Given the description of an element on the screen output the (x, y) to click on. 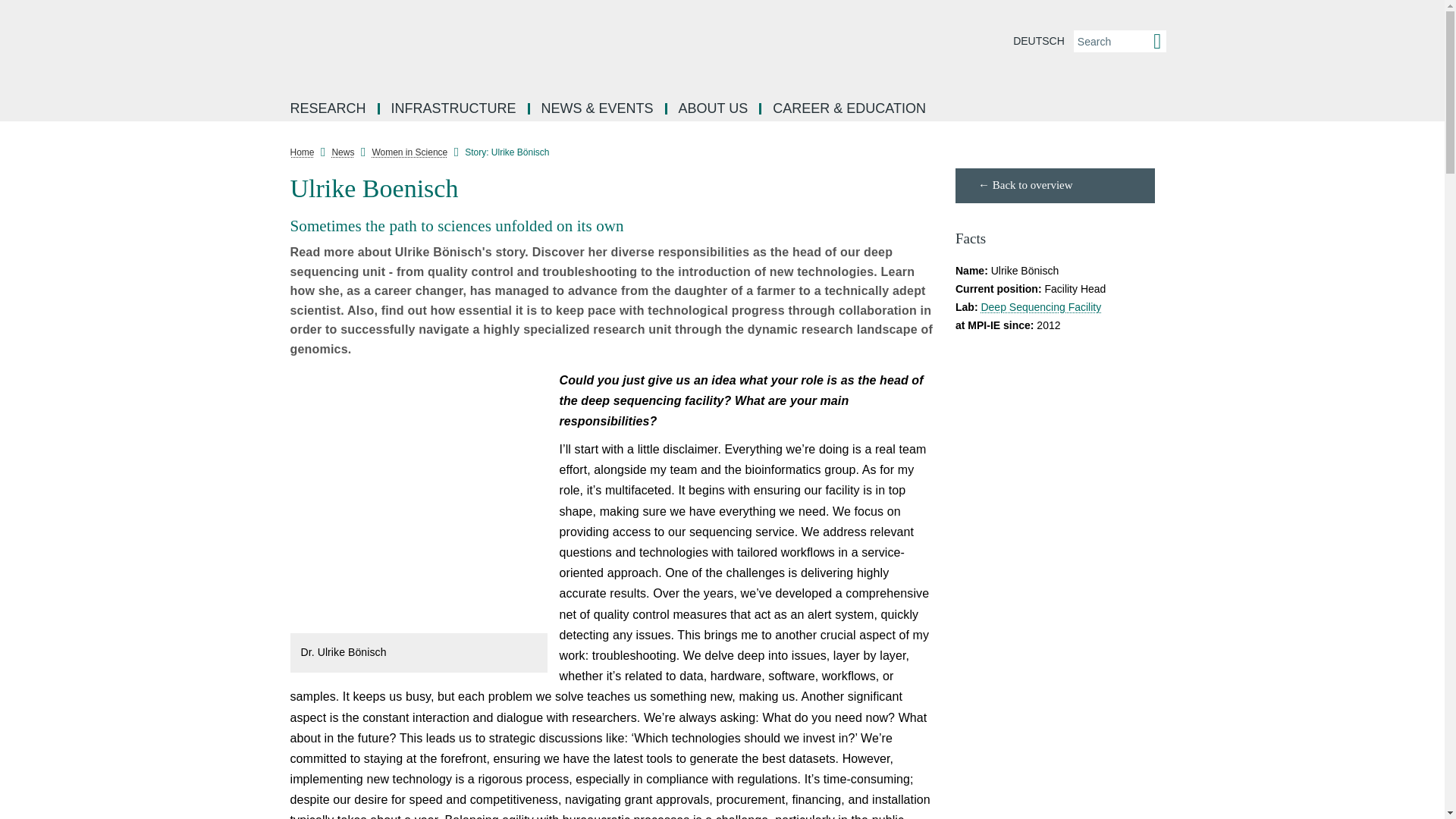
RESEARCH (329, 108)
Facebook (258, 184)
DEUTSCH (1038, 41)
E-Mail (258, 354)
Print (258, 389)
opens zoom view (533, 621)
INFRASTRUCTURE (454, 108)
Xing (258, 321)
Reddit (258, 252)
LinkedIn (258, 219)
Twitter (258, 287)
opens zoom view (418, 501)
